Given the description of an element on the screen output the (x, y) to click on. 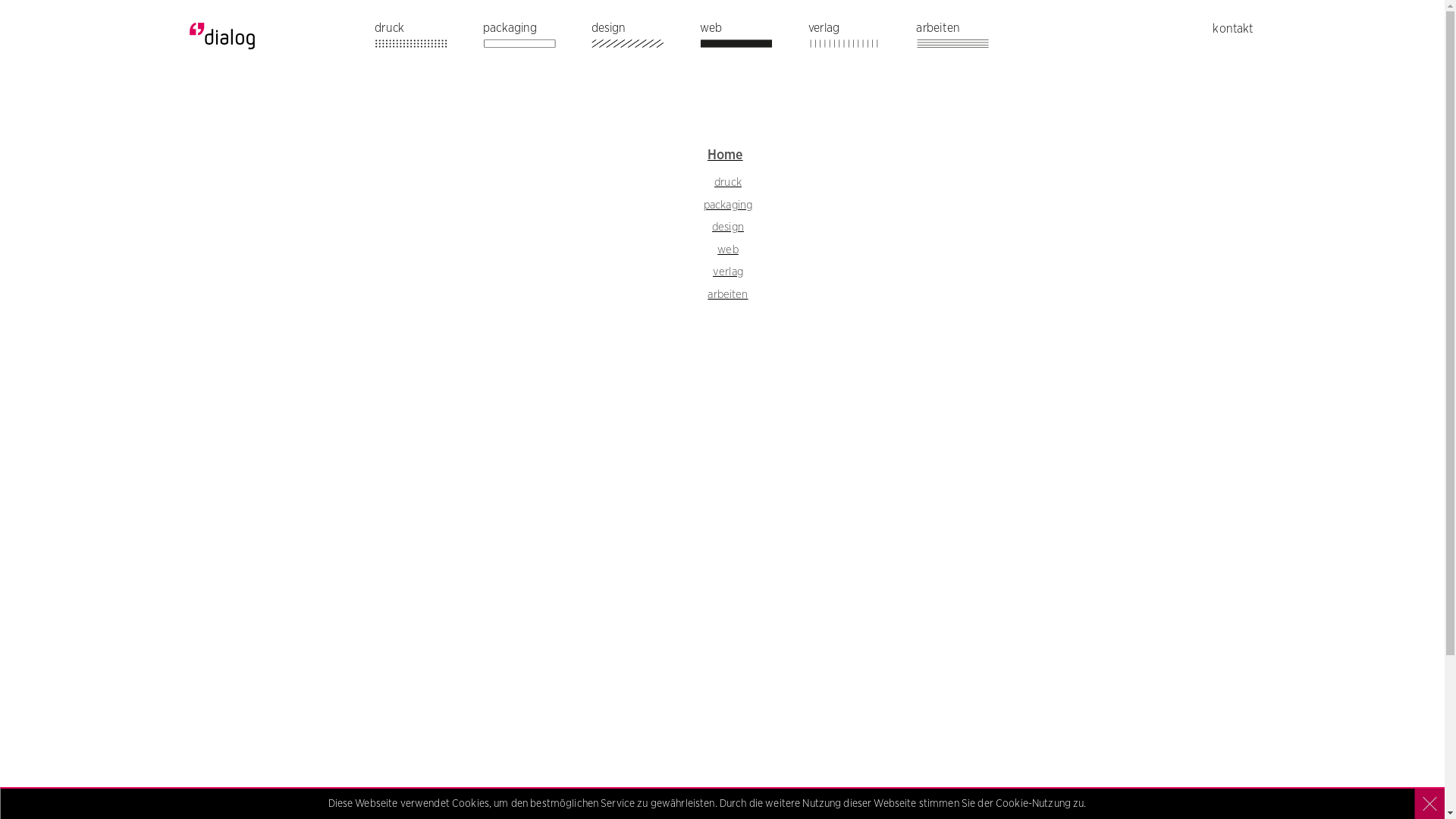
kontakt Element type: text (1232, 28)
arbeiten Element type: text (727, 294)
design Element type: text (727, 227)
verlag Element type: text (727, 271)
Home Element type: text (725, 155)
druck Element type: text (727, 182)
verlag Element type: text (859, 40)
packaging Element type: text (533, 40)
arbeiten Element type: text (966, 40)
design Element type: text (642, 40)
druck Element type: text (425, 40)
web Element type: text (727, 249)
web Element type: text (750, 40)
packaging Element type: text (727, 205)
Cookie-Nutzung Element type: text (1032, 803)
